Given the description of an element on the screen output the (x, y) to click on. 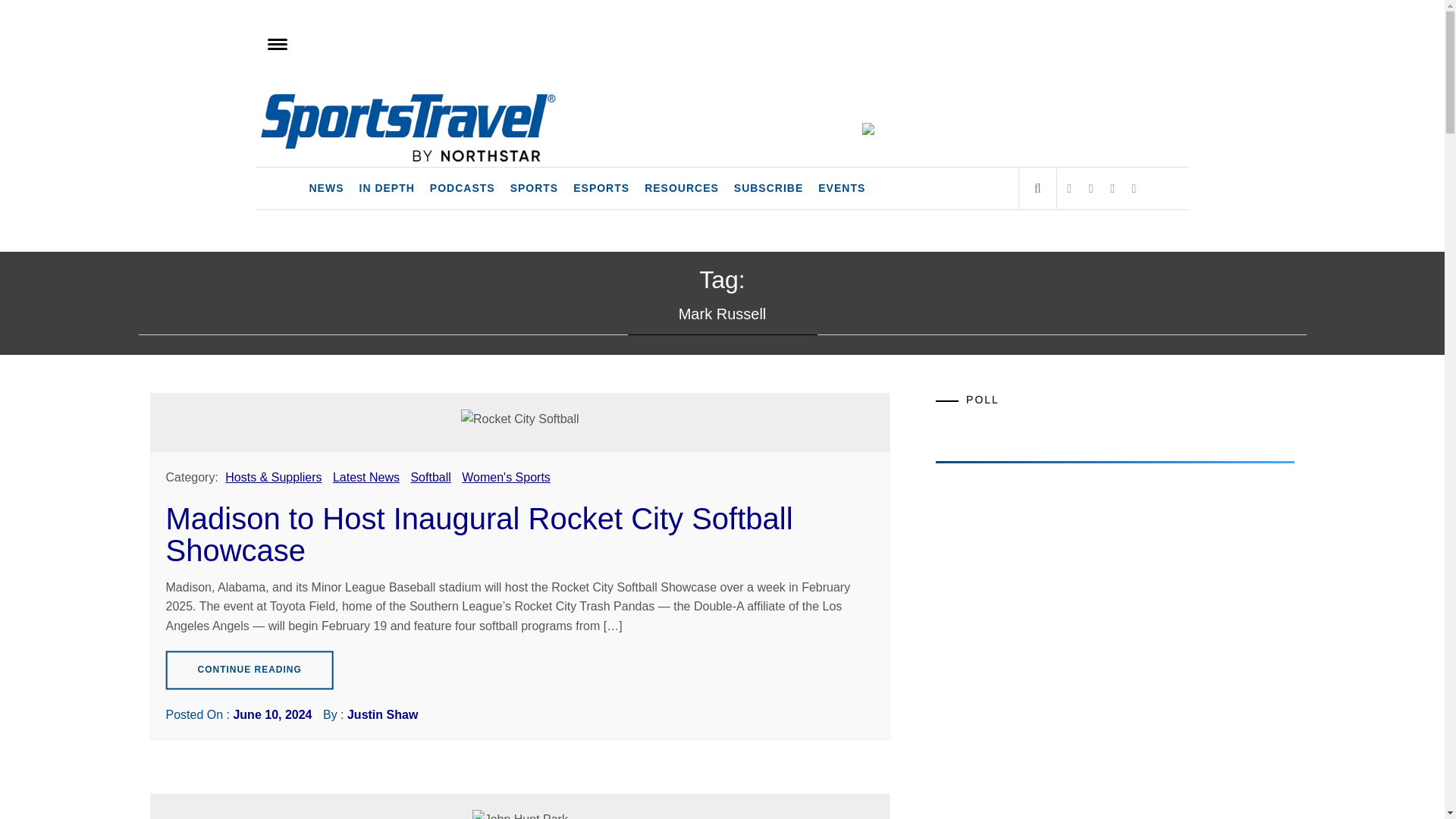
SPORTS (534, 188)
SportsTravel (354, 108)
PODCASTS (462, 188)
IN DEPTH (387, 188)
NEWS (326, 188)
RESOURCES (681, 188)
ESPORTS (601, 188)
